Given the description of an element on the screen output the (x, y) to click on. 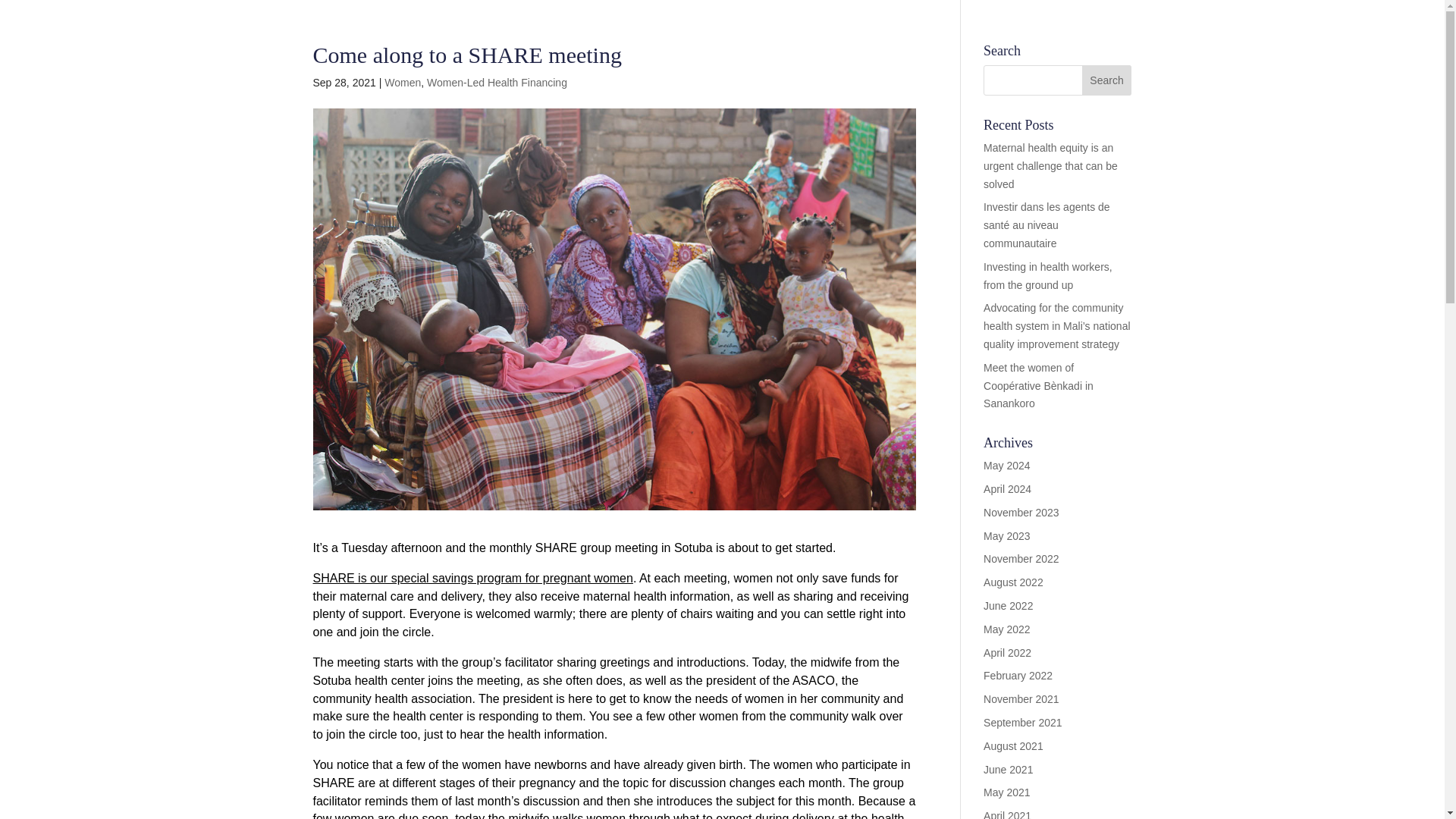
Search (1106, 80)
Women-Led Health Financing (496, 82)
SHARE is our special savings program for pregnant women (472, 577)
Search (1106, 80)
Investing in health workers, from the ground up (1048, 276)
Women (402, 82)
